Given the description of an element on the screen output the (x, y) to click on. 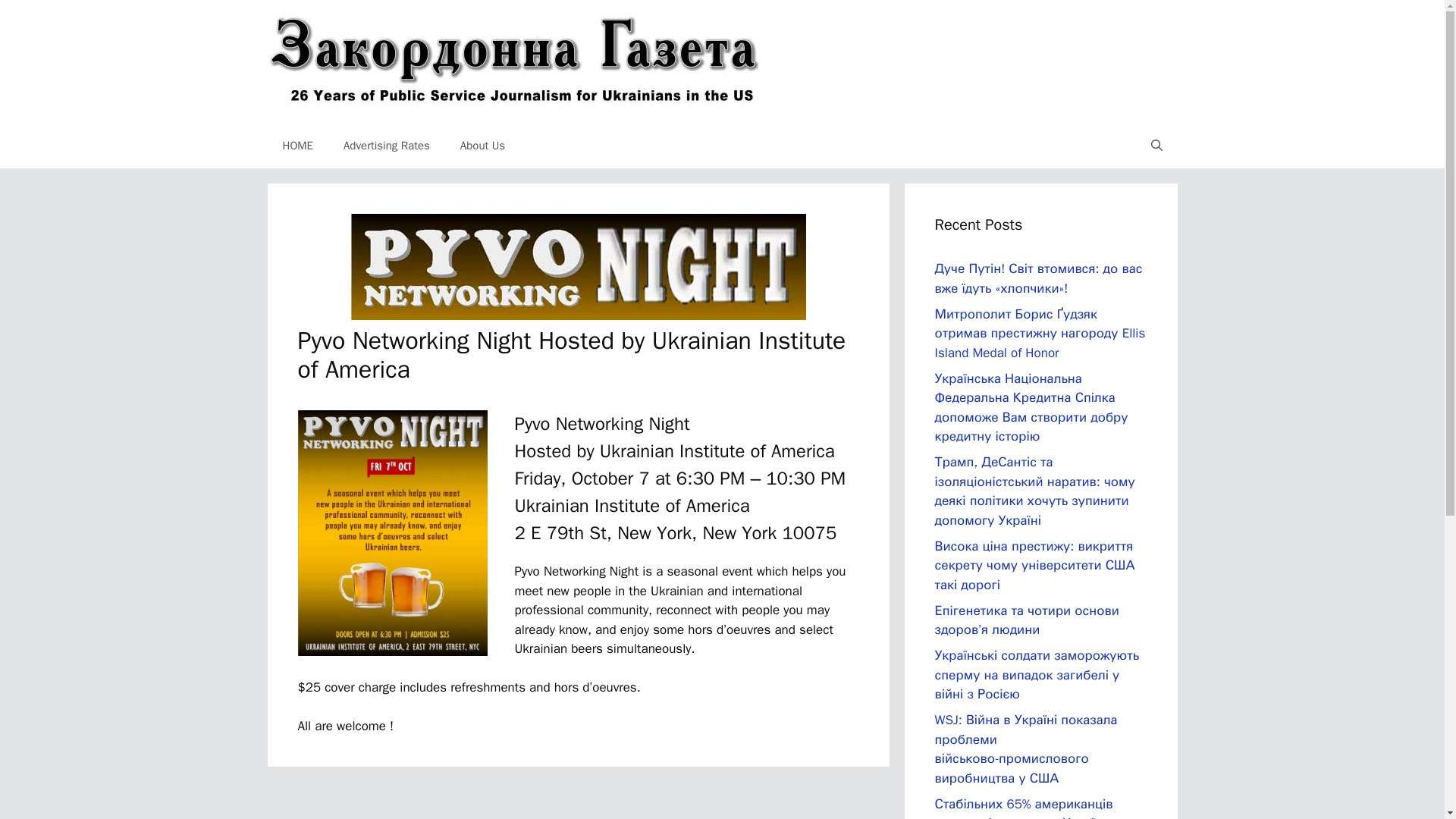
About Us (482, 145)
HOME (296, 145)
Advertising Rates (387, 145)
